Given the description of an element on the screen output the (x, y) to click on. 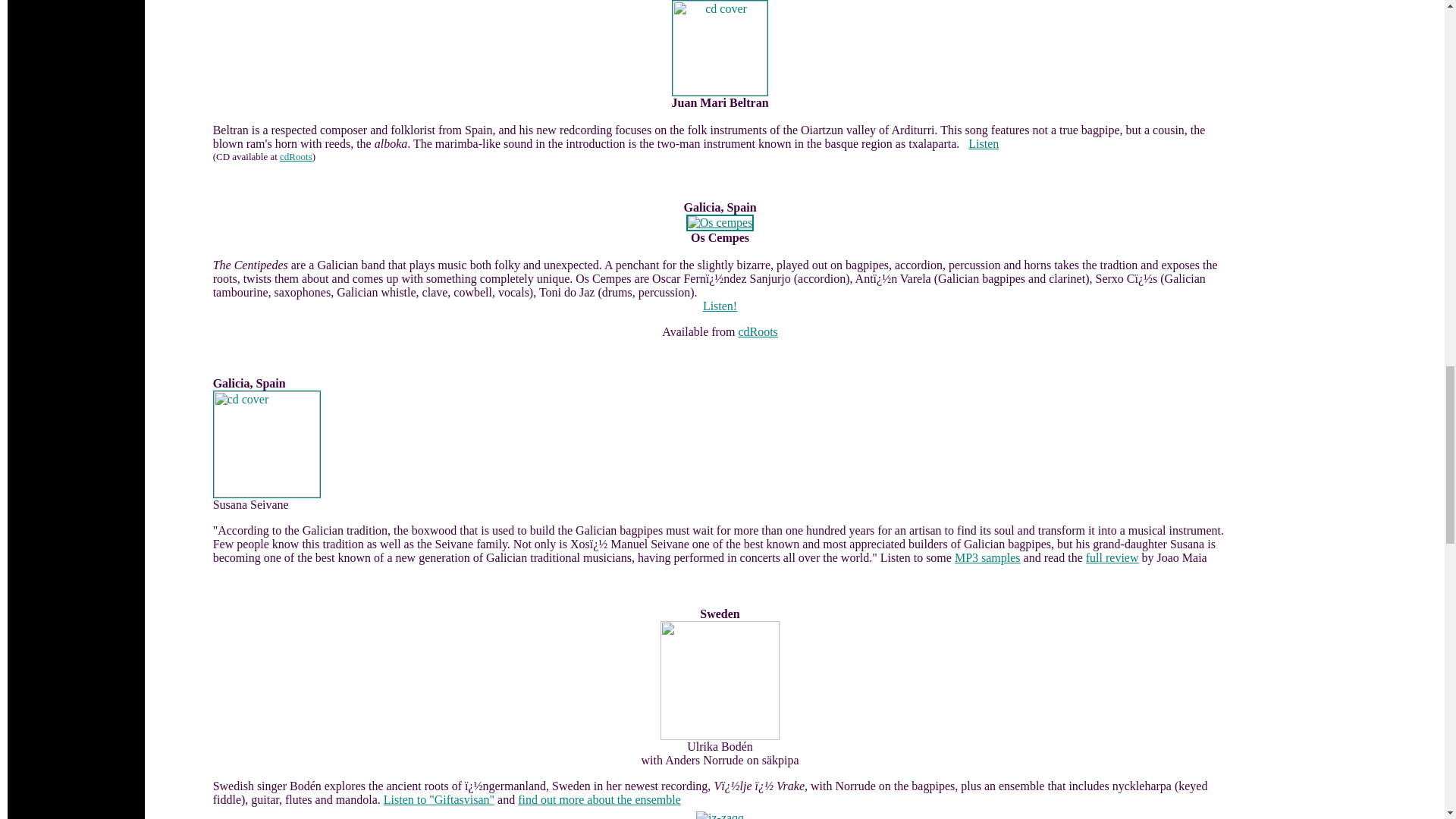
Listen to "Giftasvisan" (439, 799)
Listen (983, 143)
find out more about the ensemble (599, 799)
full review (1112, 557)
cdRoots (296, 156)
cdRoots (757, 331)
Listen! (719, 305)
MP3 samples (987, 557)
